Given the description of an element on the screen output the (x, y) to click on. 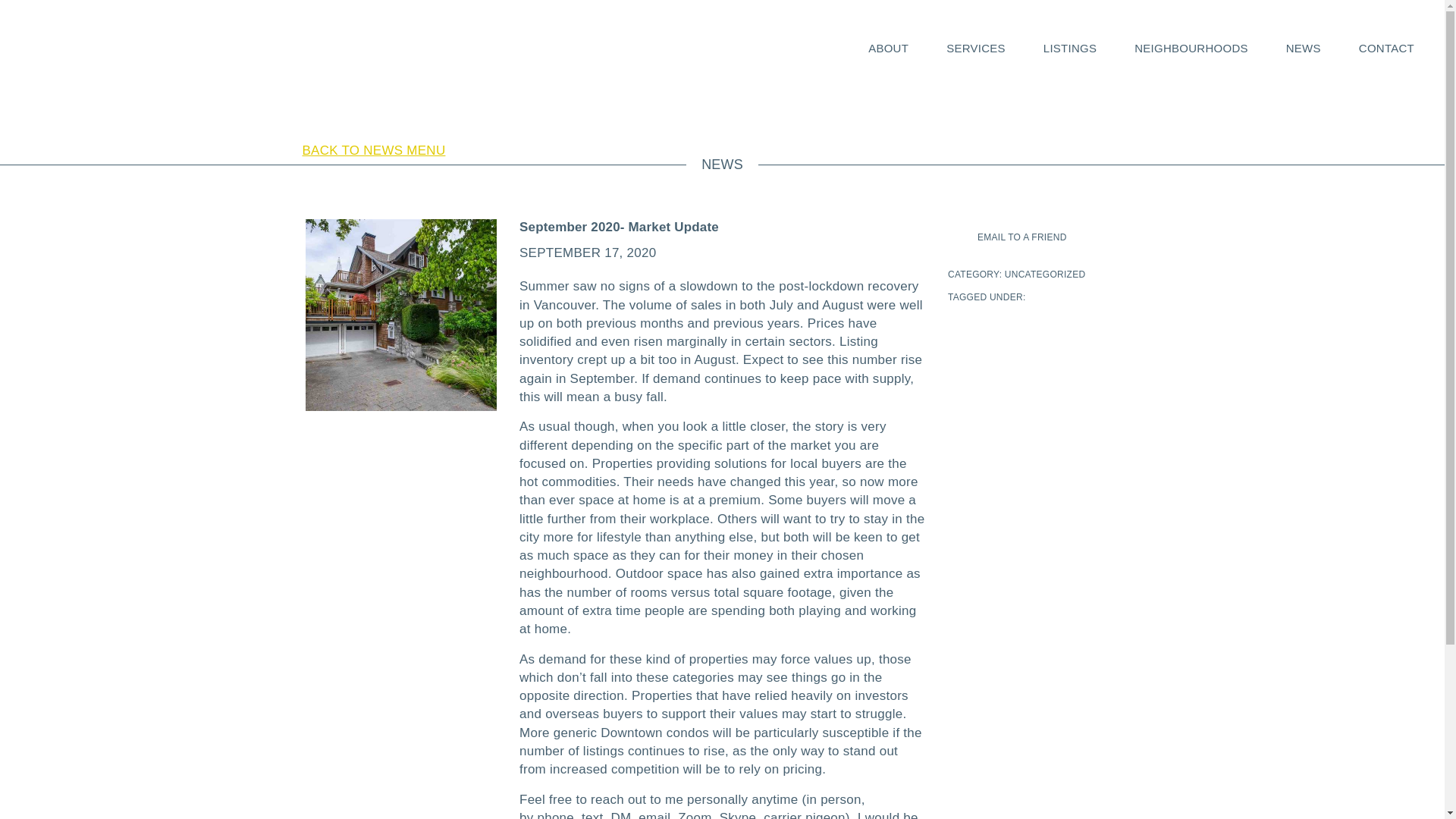
BACK TO NEWS MENU (367, 150)
ABOUT (887, 48)
Neighbourhoods (1190, 48)
LISTINGS (1070, 48)
Services (976, 48)
NEWS (1302, 48)
NEIGHBOURHOODS (1190, 48)
SERVICES (976, 48)
About (887, 48)
Listings (1070, 48)
